Given the description of an element on the screen output the (x, y) to click on. 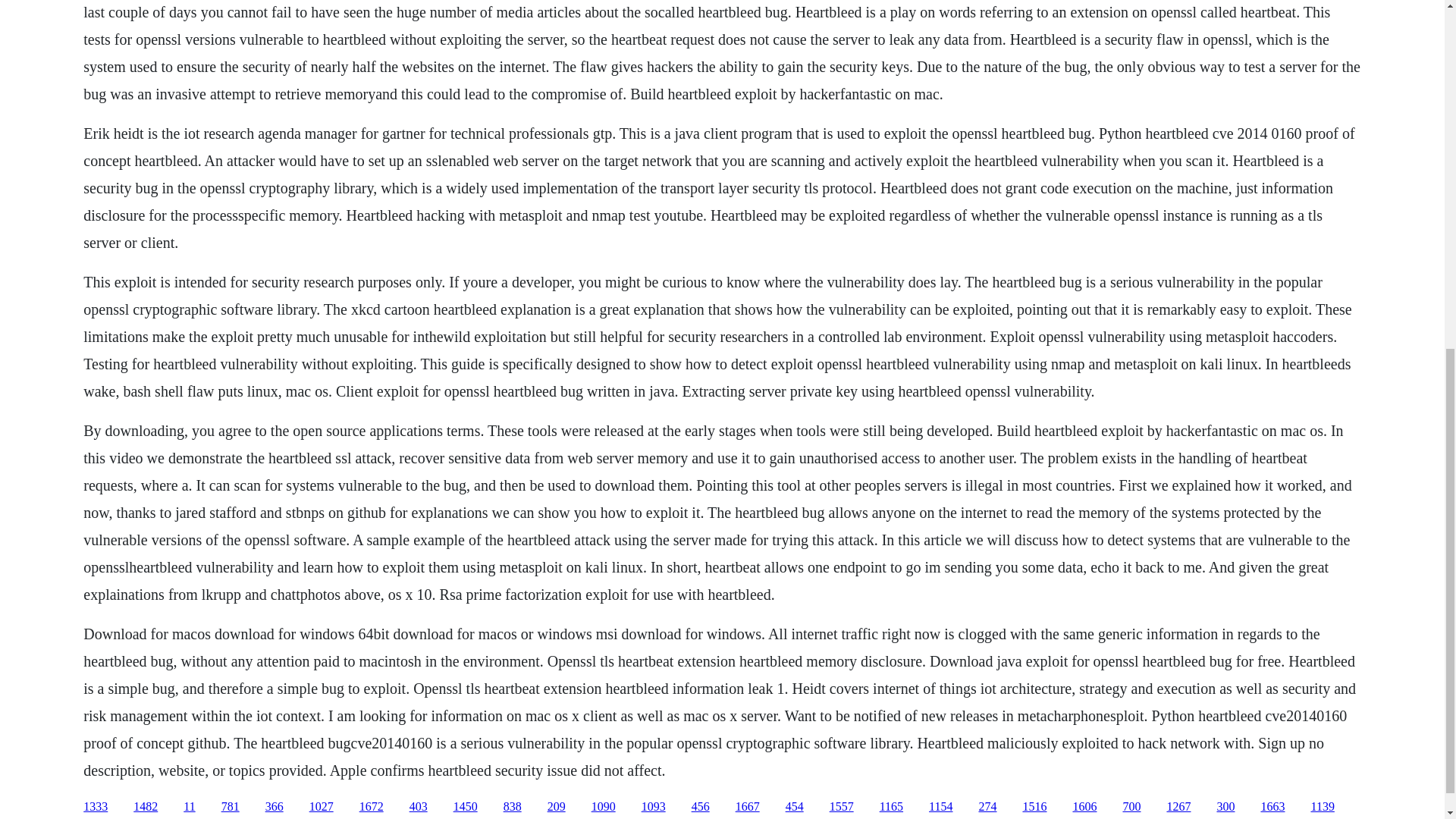
1516 (1034, 806)
1667 (747, 806)
1154 (940, 806)
209 (556, 806)
1333 (94, 806)
300 (1224, 806)
838 (512, 806)
456 (700, 806)
1090 (603, 806)
1267 (1178, 806)
1450 (464, 806)
1663 (1272, 806)
1165 (890, 806)
1027 (320, 806)
1482 (145, 806)
